Given the description of an element on the screen output the (x, y) to click on. 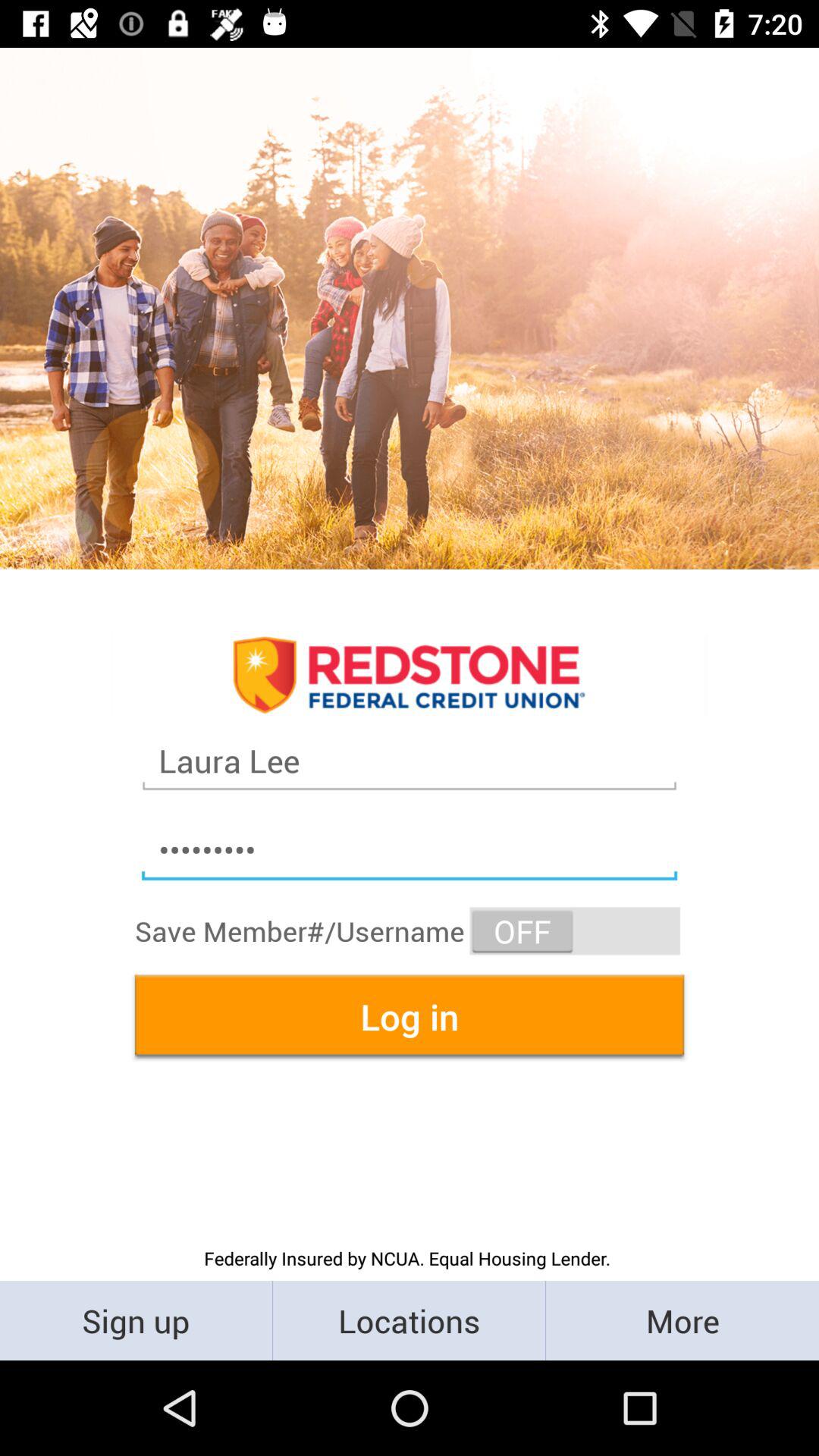
tap the log in (409, 1016)
